Given the description of an element on the screen output the (x, y) to click on. 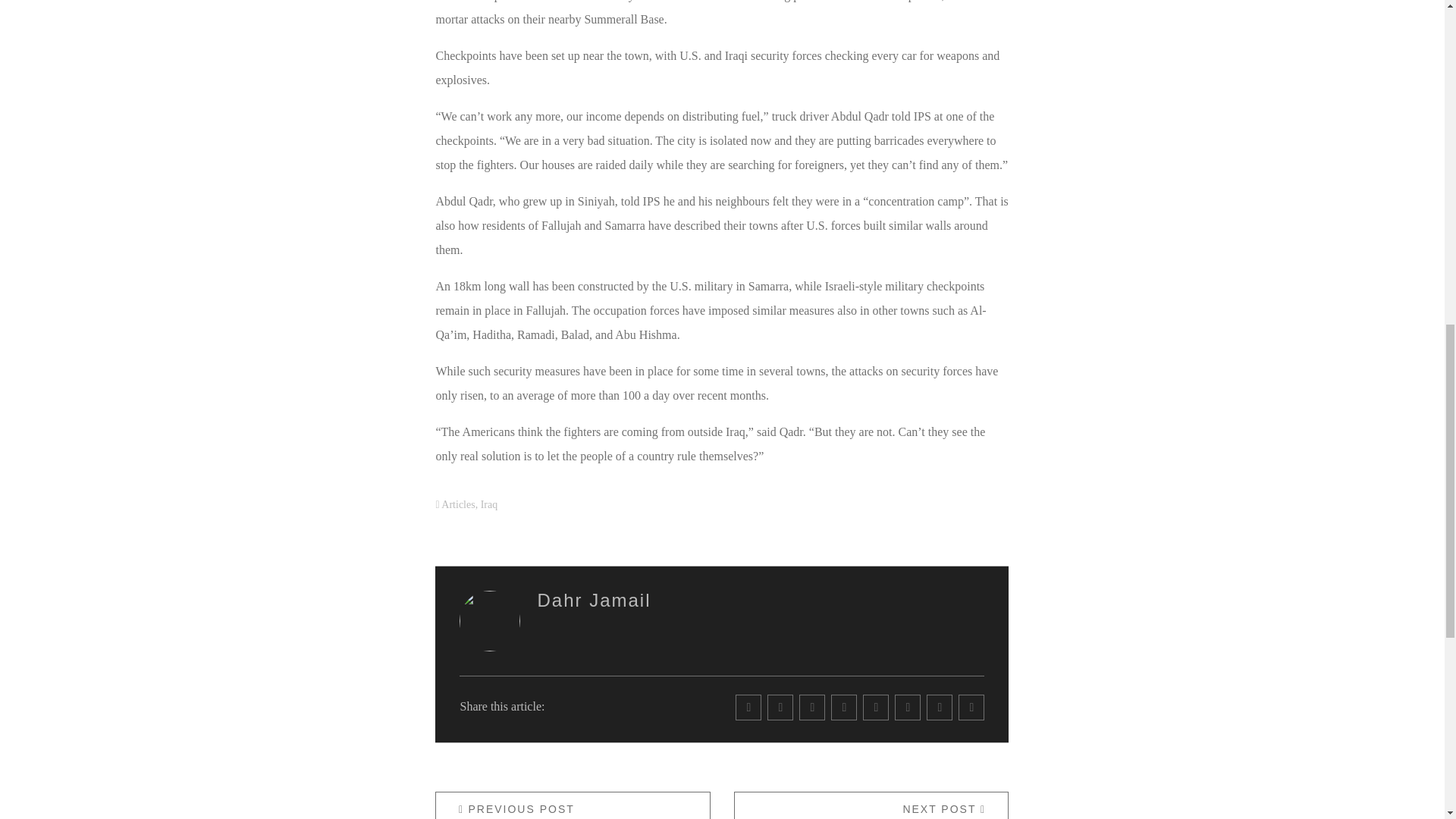
Dahr Jamail (593, 599)
Iraq (871, 805)
Posts by Dahr Jamail (572, 805)
Articles (488, 504)
